Given the description of an element on the screen output the (x, y) to click on. 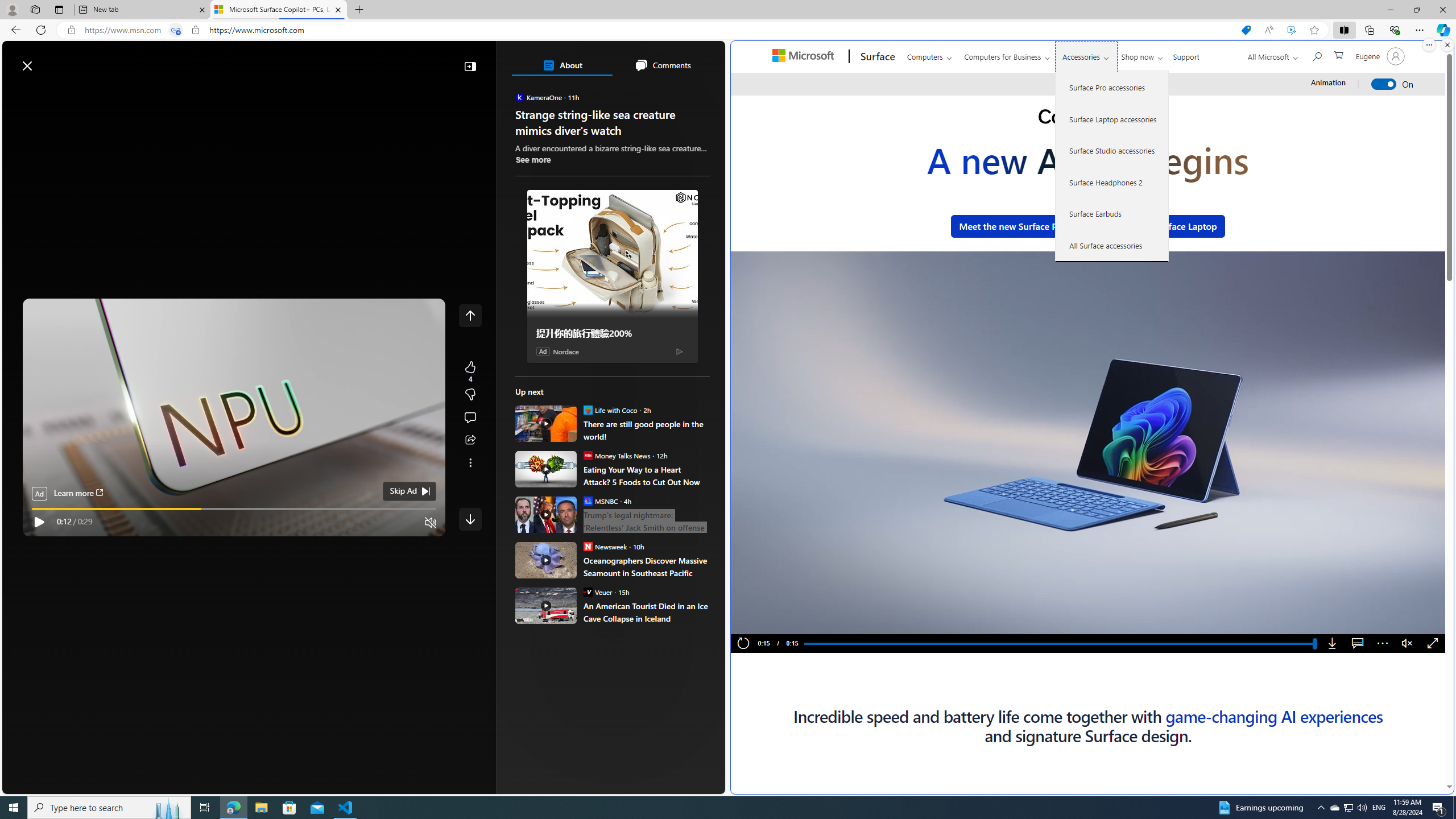
MSNBC MSNBC (600, 500)
ABC News (554, 415)
AutomationID: pause-svg (762, 621)
Tabs in split screen (175, 29)
Play (38, 522)
There are still good people in the world! (545, 423)
Collapse (469, 65)
Pause (762, 621)
